Given the description of an element on the screen output the (x, y) to click on. 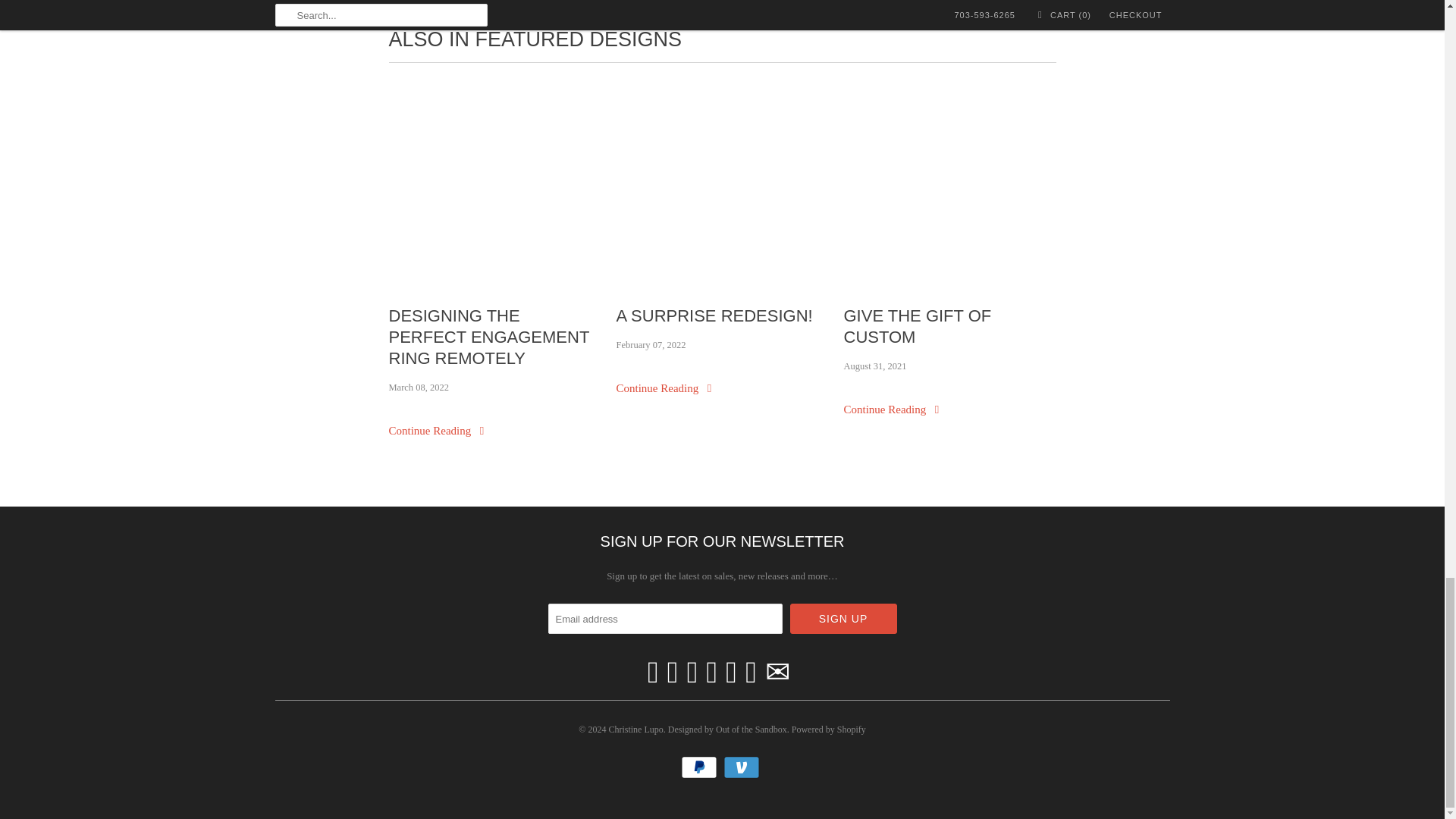
Designing the perfect  Engagement ring remotely (493, 337)
Venmo (742, 766)
A SURPRISE REDESIGN! (721, 315)
A Surprise Redesign! (664, 387)
Continue Reading (437, 430)
Continue Reading (664, 387)
Designing the perfect  Engagement ring remotely (493, 180)
Give the Gift of Custom (892, 409)
Give the Gift of Custom (949, 326)
Designing the perfect  Engagement ring remotely (437, 430)
Sign Up (843, 618)
Sign Up (843, 618)
A Surprise Redesign! (721, 180)
DESIGNING THE PERFECT ENGAGEMENT RING REMOTELY (493, 337)
Continue Reading (892, 409)
